Given the description of an element on the screen output the (x, y) to click on. 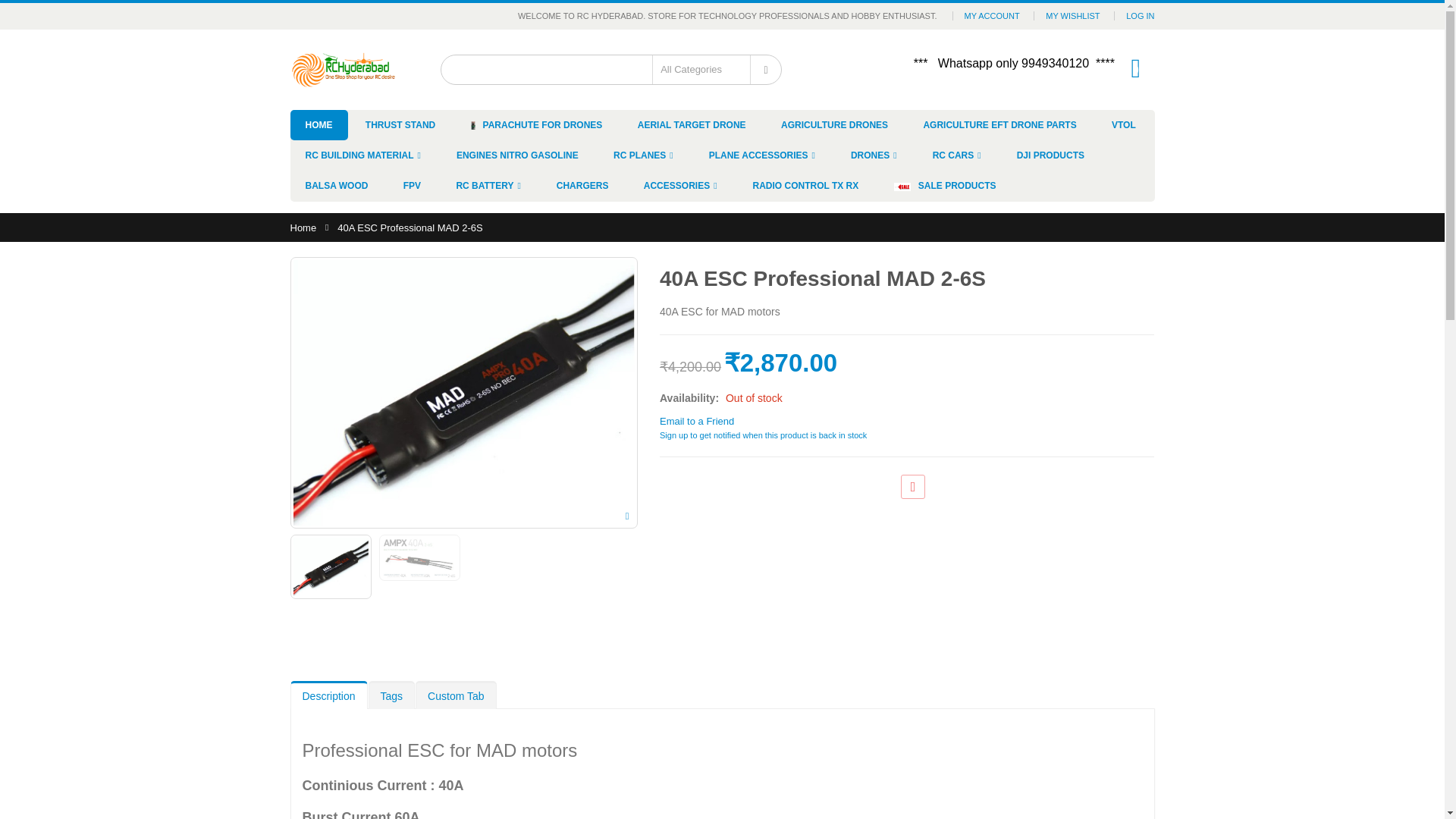
HOME (318, 124)
PARACHUTE FOR DRONES (536, 124)
Hobby Store (343, 69)
Go to Home Page (302, 227)
MY ACCOUNT (991, 15)
AGRICULTURE DRONES (833, 124)
Log In (1139, 15)
THRUST STAND (399, 124)
VTOL (1123, 124)
MAD ESC (419, 557)
